Given the description of an element on the screen output the (x, y) to click on. 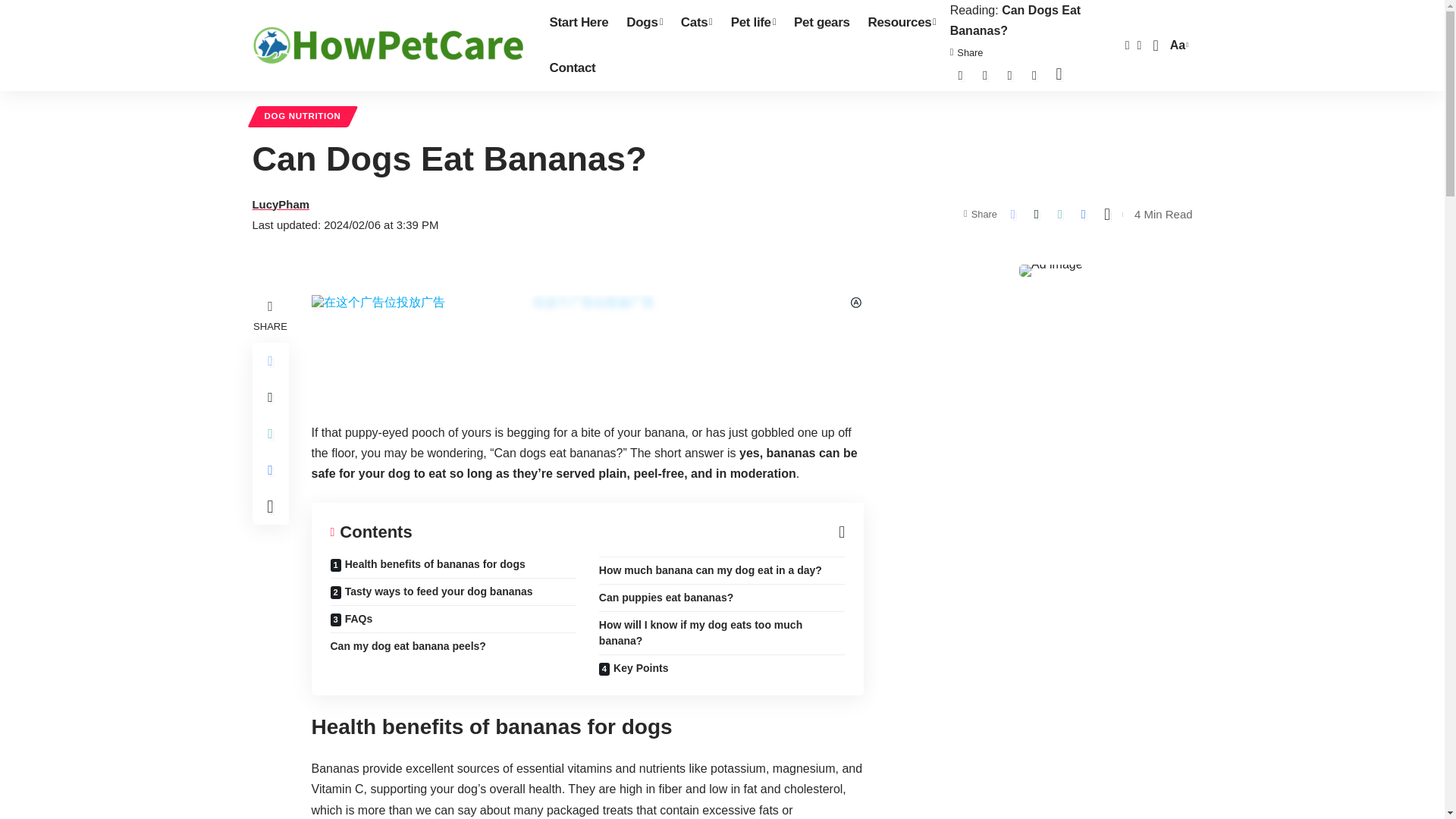
Start Here (578, 22)
Contact (572, 67)
Pet life (753, 22)
How Pet Care (1177, 45)
Resources (387, 45)
Pet gears (901, 22)
Dogs (821, 22)
Cats (644, 22)
